Given the description of an element on the screen output the (x, y) to click on. 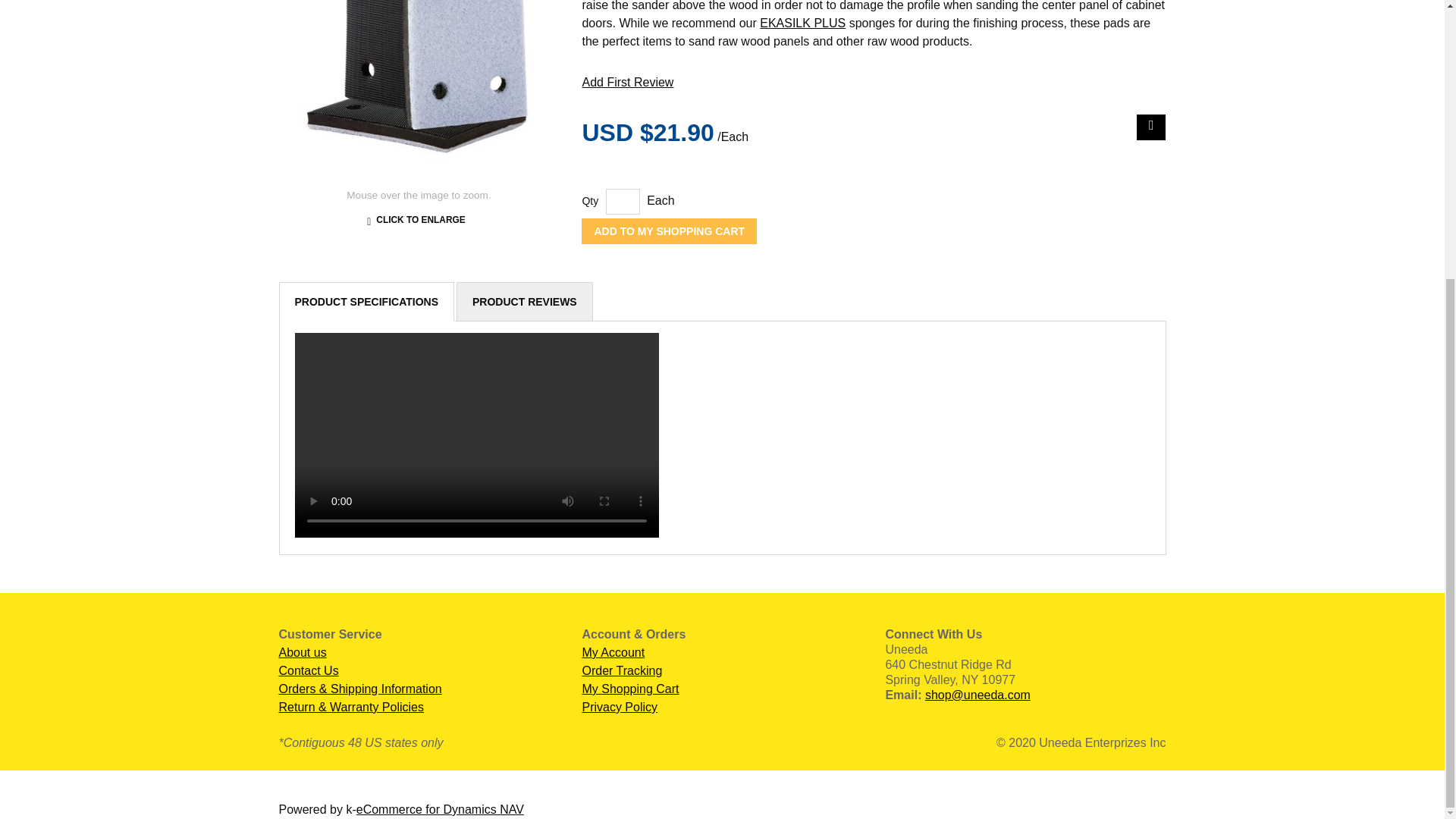
Order Tracking (621, 670)
My Account (612, 652)
My Shopping Cart (629, 688)
Privacy Policy (619, 707)
Contact Us (309, 670)
About us (302, 652)
Tell a Friend (1151, 127)
